Given the description of an element on the screen output the (x, y) to click on. 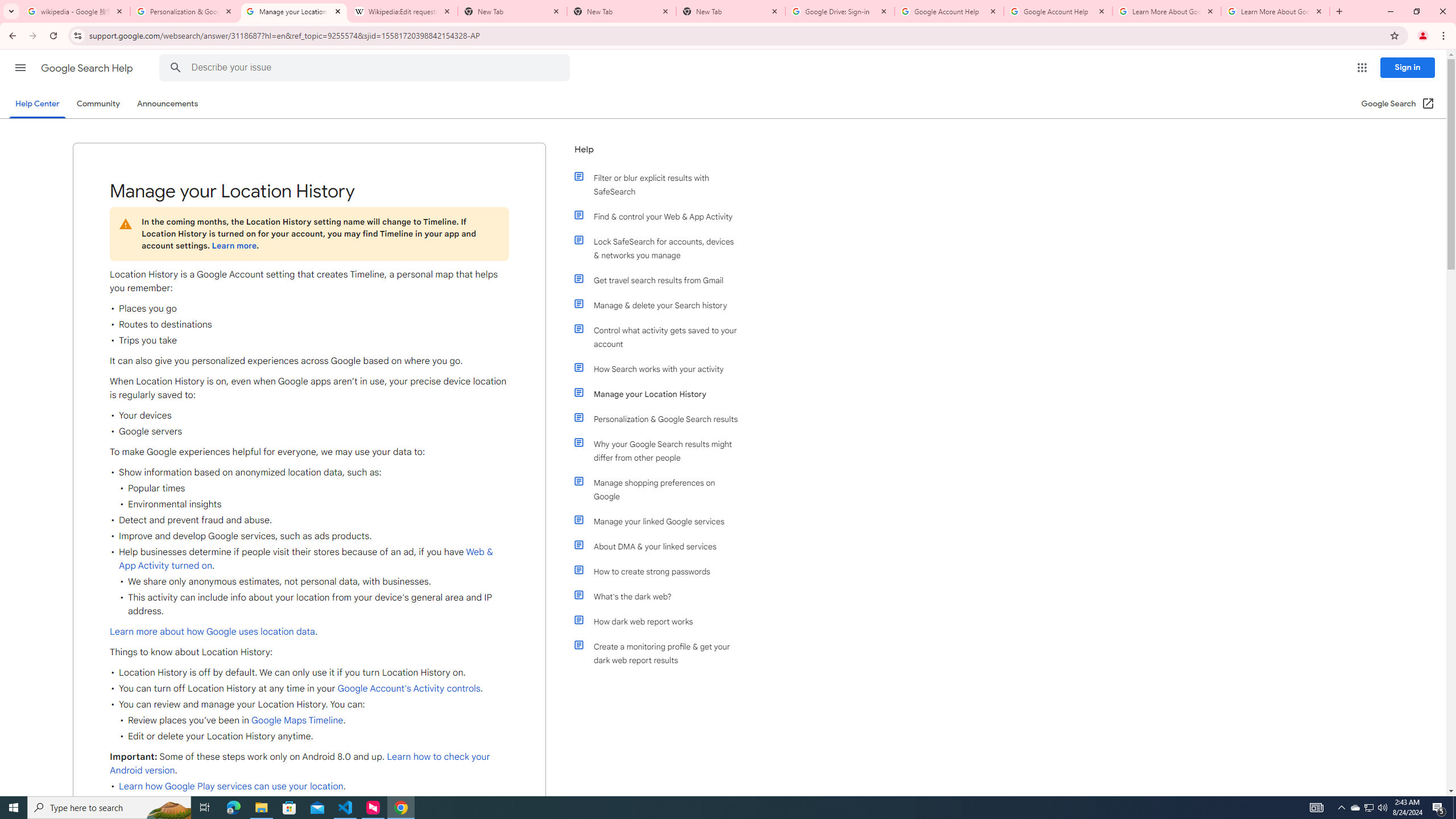
Manage & delete your Search history (661, 305)
Sign in (1407, 67)
Address and search bar (735, 35)
 Google Account's Activity controls (407, 688)
Web & App Activity turned on (306, 558)
Wikipedia:Edit requests - Wikipedia (403, 11)
Google Maps Timeline (296, 720)
Help (656, 153)
Get travel search results from Gmail (661, 280)
